Given the description of an element on the screen output the (x, y) to click on. 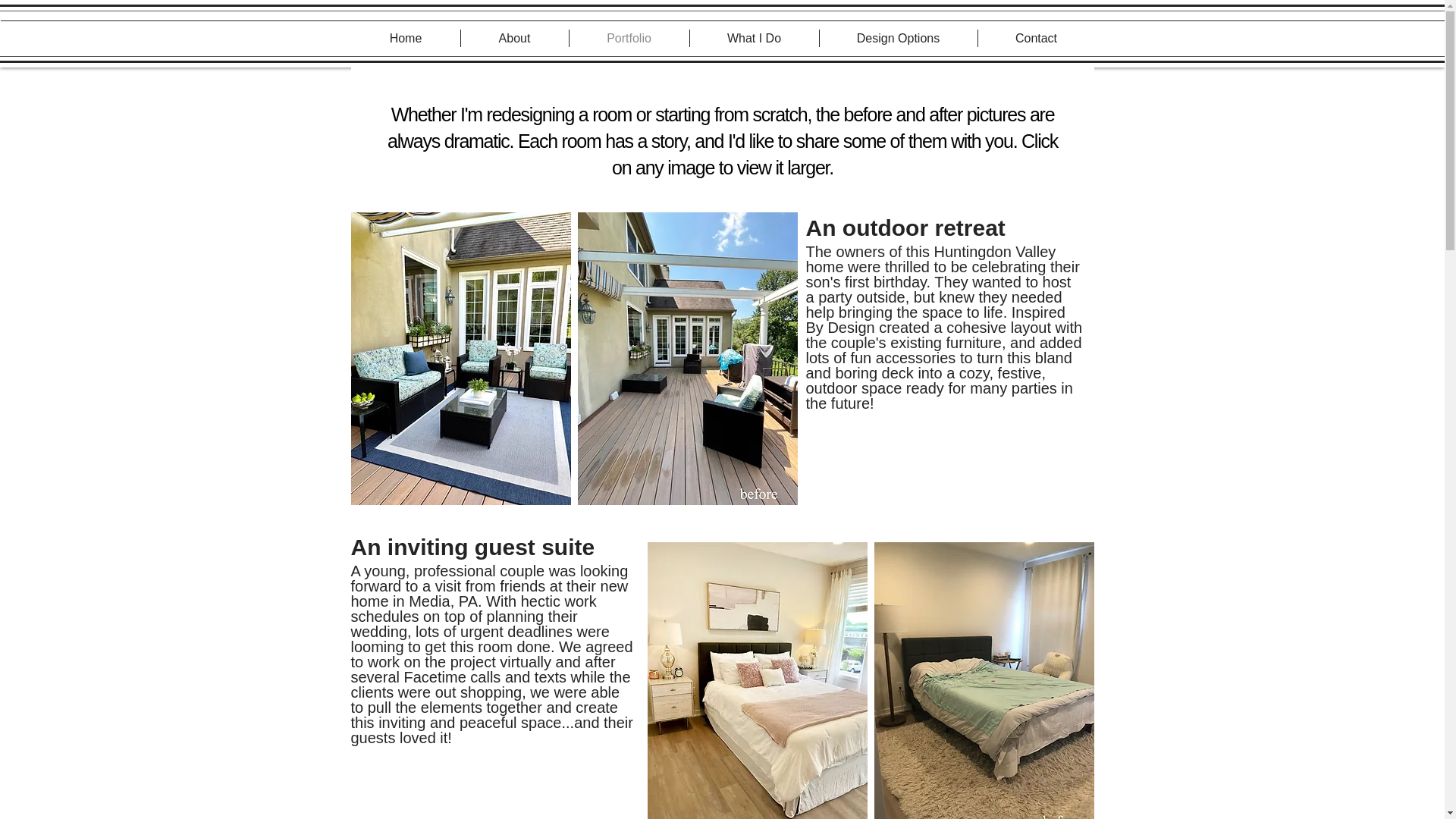
About (515, 37)
Home (406, 37)
Contact (1036, 37)
Design Options (897, 37)
What I Do (754, 37)
Portfolio (628, 37)
